Given the description of an element on the screen output the (x, y) to click on. 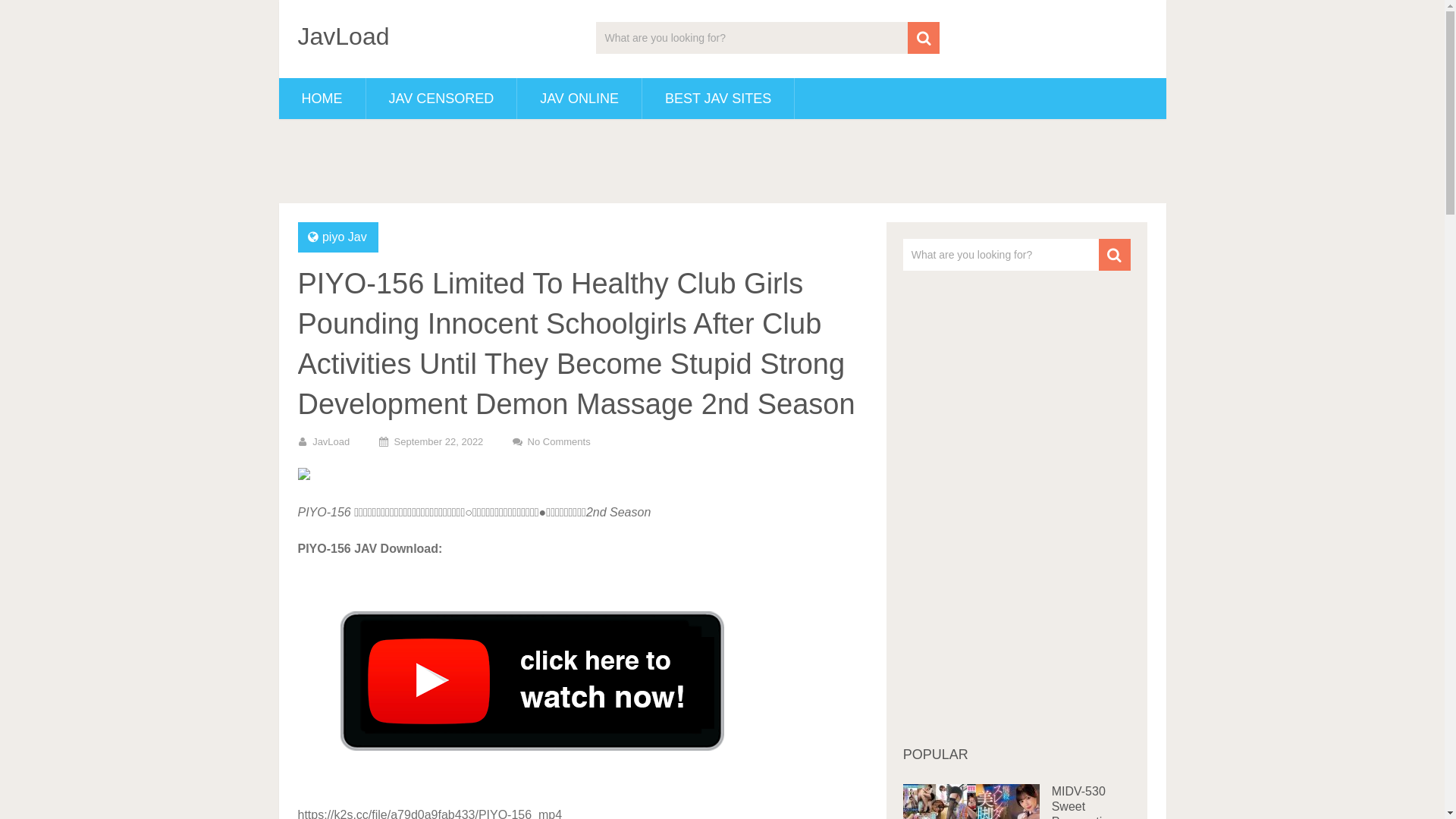
JAV CENSORED Element type: text (440, 98)
BEST JAV SITES Element type: text (717, 98)
JavLoad Element type: text (343, 36)
JavLoad Element type: text (330, 441)
HOME Element type: text (322, 98)
piyo Jav Element type: text (344, 236)
Chat Now Element type: hover (721, 156)
No Comments Element type: text (558, 441)
JAV ONLINE Element type: text (579, 98)
